Given the description of an element on the screen output the (x, y) to click on. 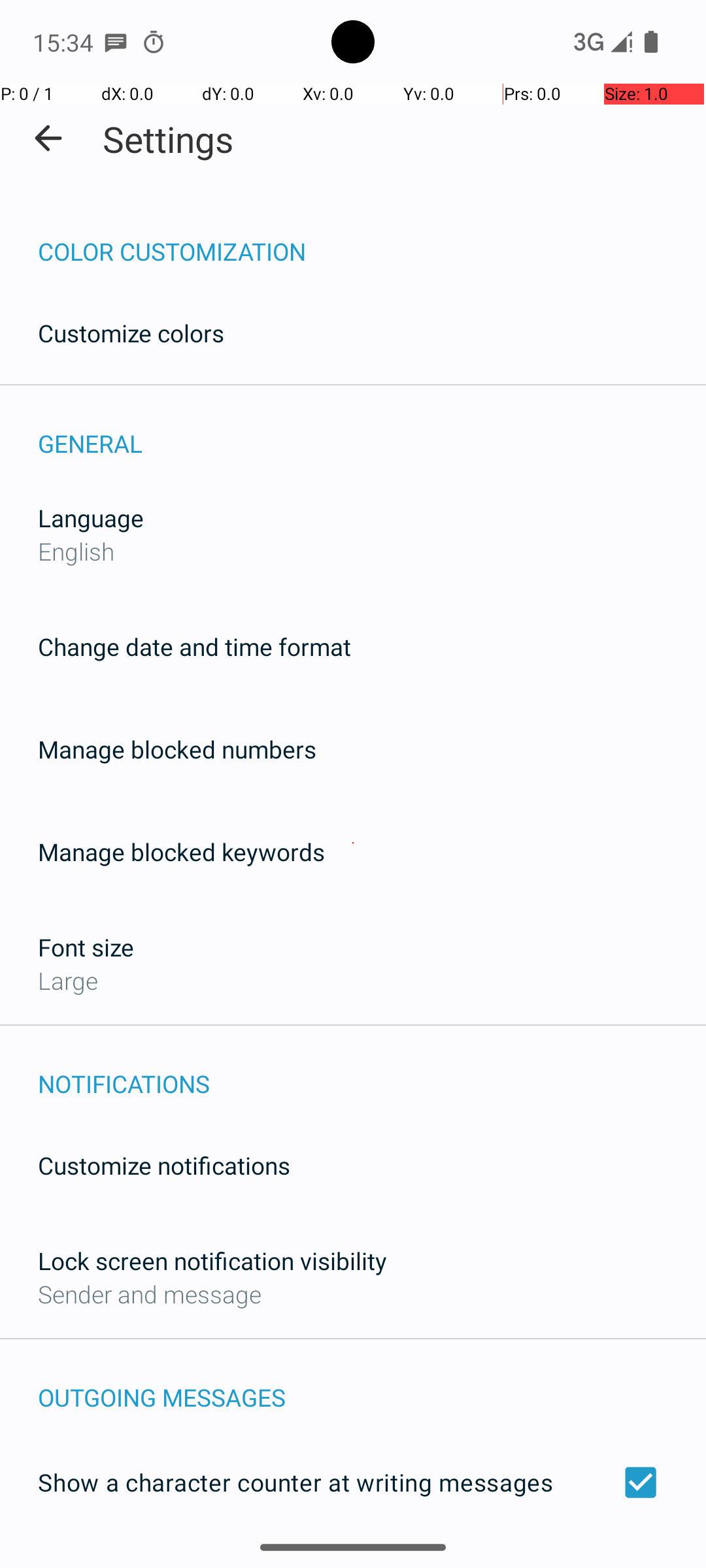
Large Element type: android.widget.TextView (67, 979)
